Given the description of an element on the screen output the (x, y) to click on. 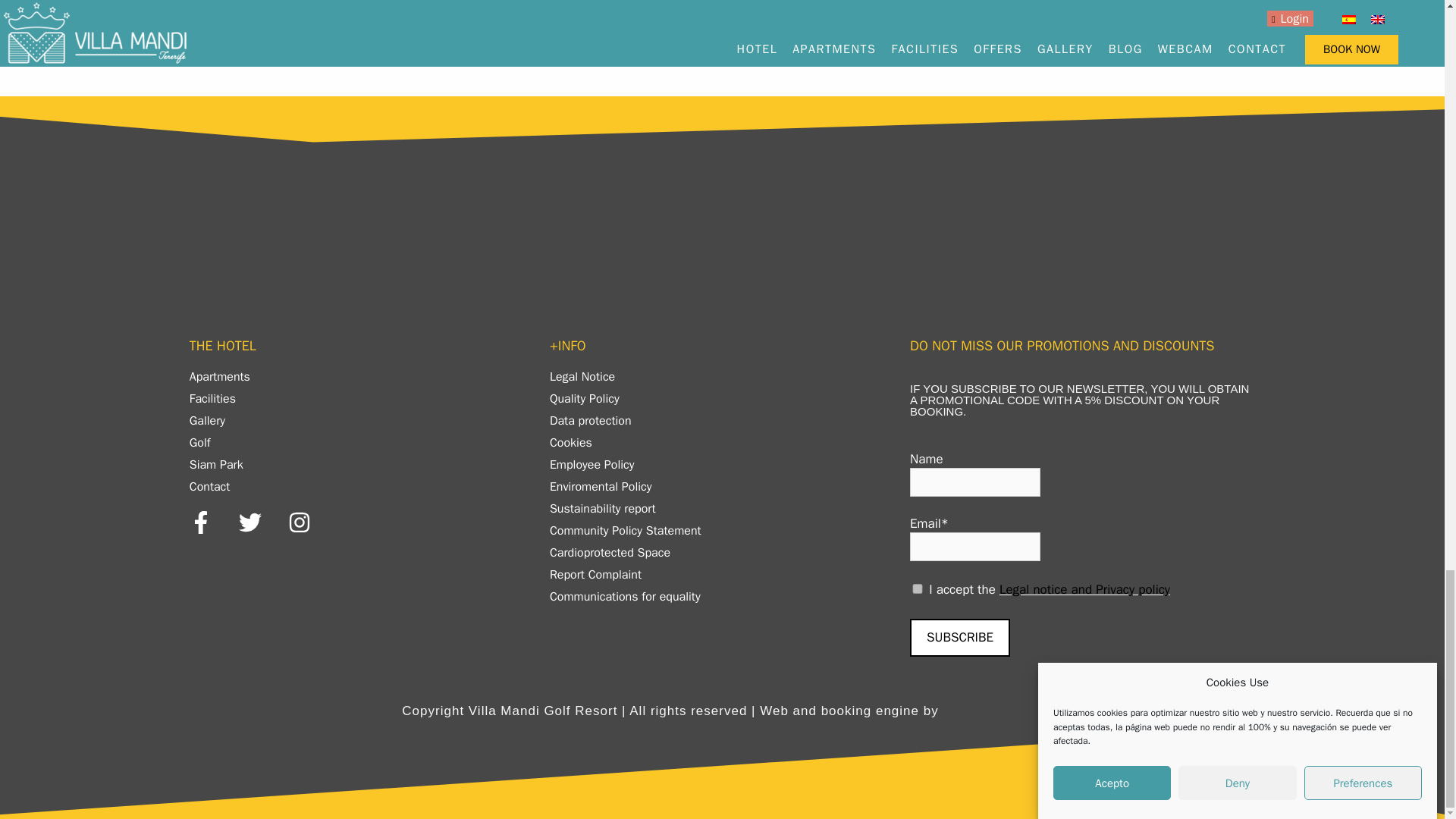
SUBSCRIBE (960, 637)
thinkIN-logo-blanco.png (994, 710)
on (917, 588)
